Given the description of an element on the screen output the (x, y) to click on. 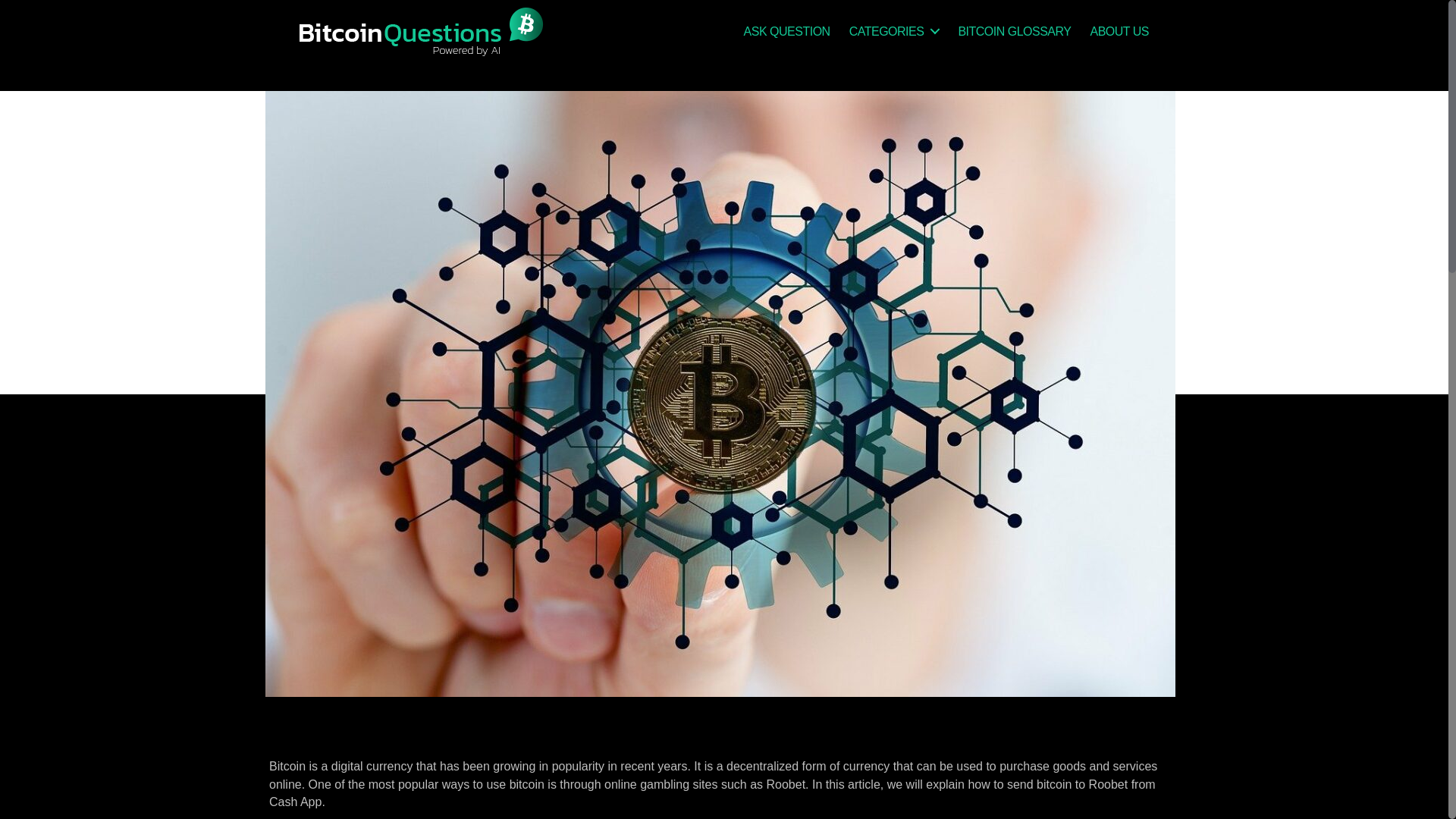
ASK QUESTION (786, 31)
CATEGORIES (893, 31)
BITCOIN GLOSSARY (1014, 31)
ABOUT US (1118, 31)
